Given the description of an element on the screen output the (x, y) to click on. 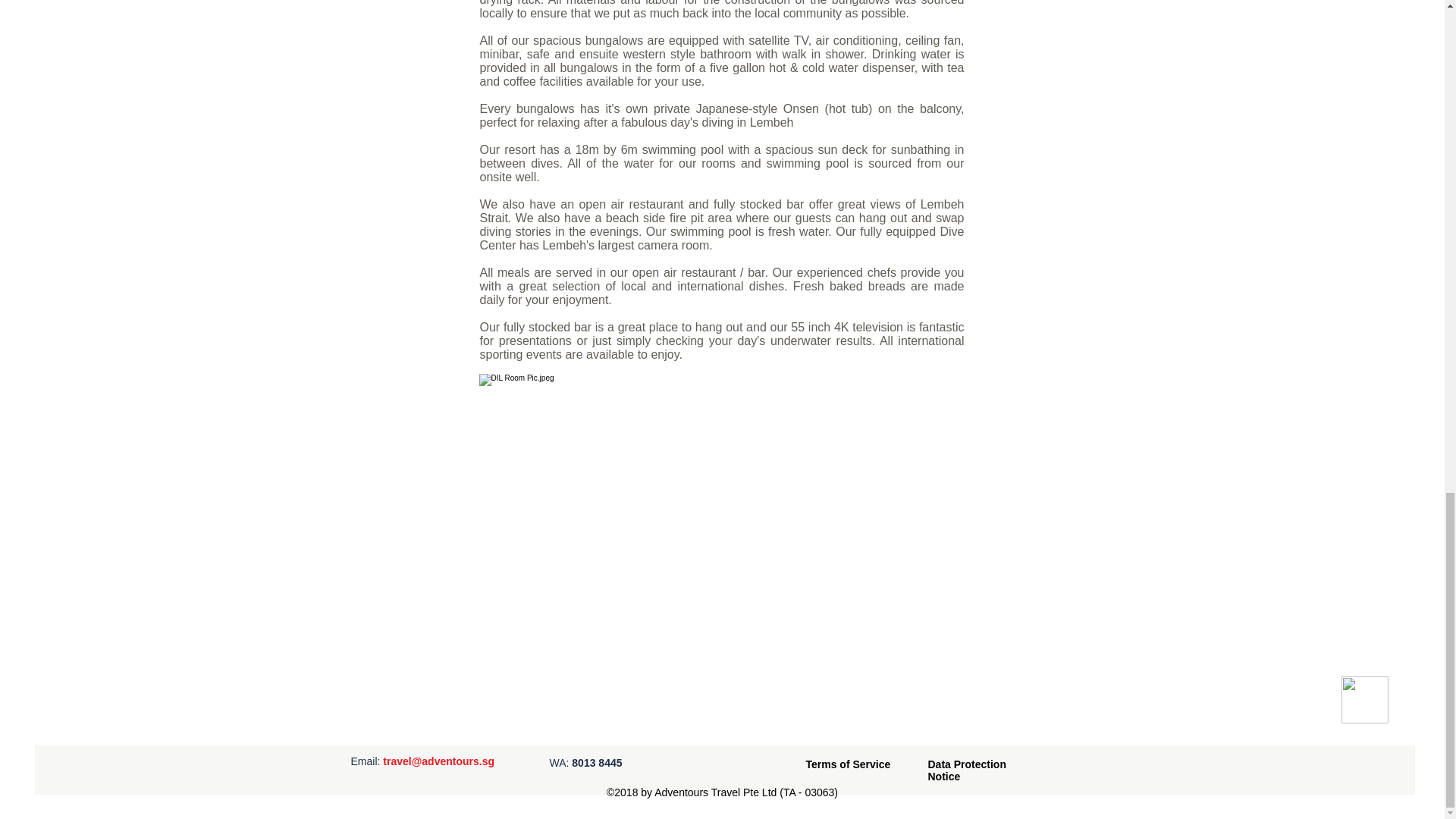
Terms of Service (847, 764)
8013 8445 (596, 762)
Data Protection Notice (967, 770)
